Given the description of an element on the screen output the (x, y) to click on. 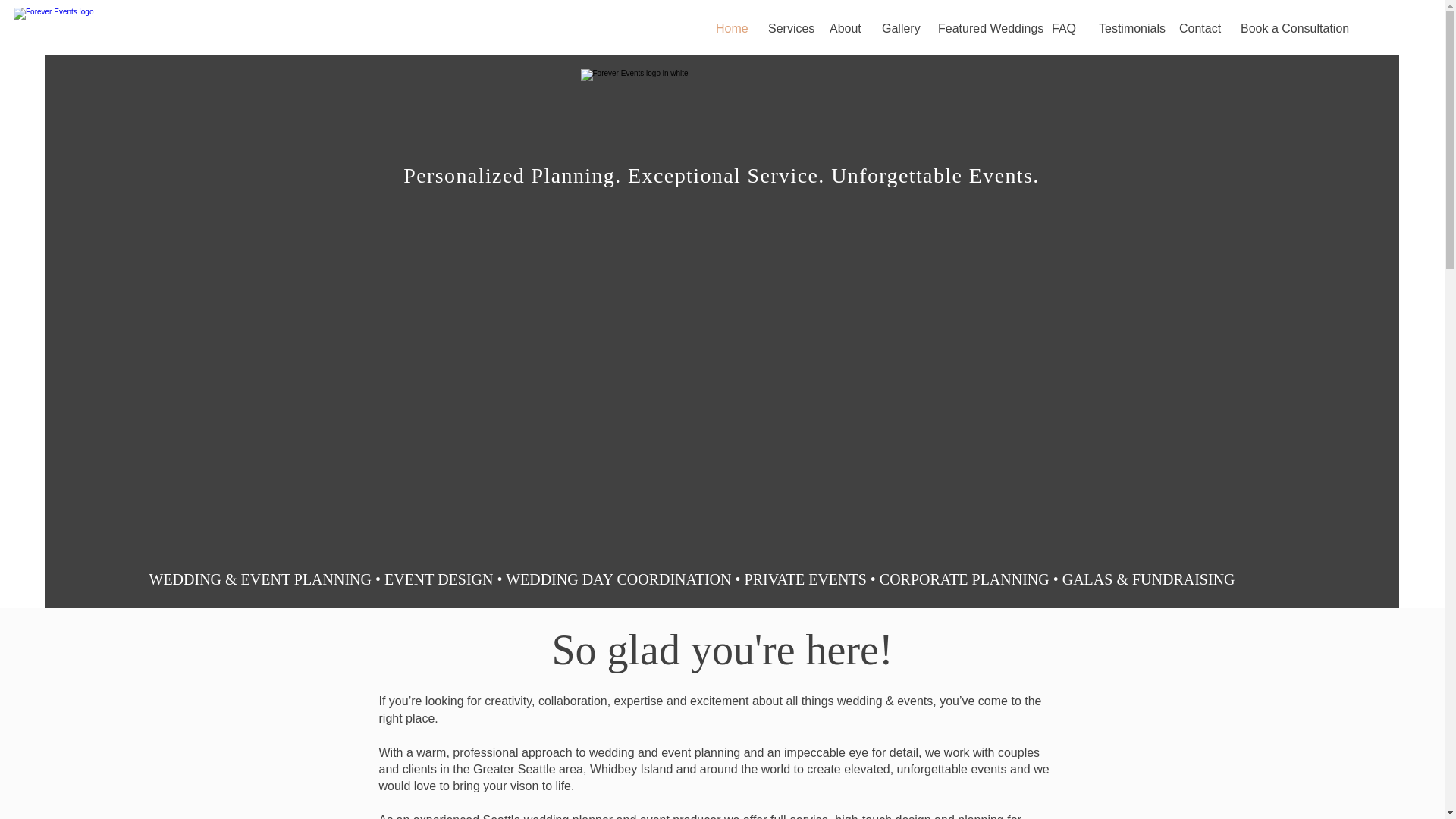
Gallery (898, 28)
About (844, 28)
Contact (1197, 28)
Book a Consultation (1288, 28)
FAQ (1064, 28)
Testimonials (1127, 28)
Home (730, 28)
Featured Weddings (983, 28)
Services (787, 28)
